Given the description of an element on the screen output the (x, y) to click on. 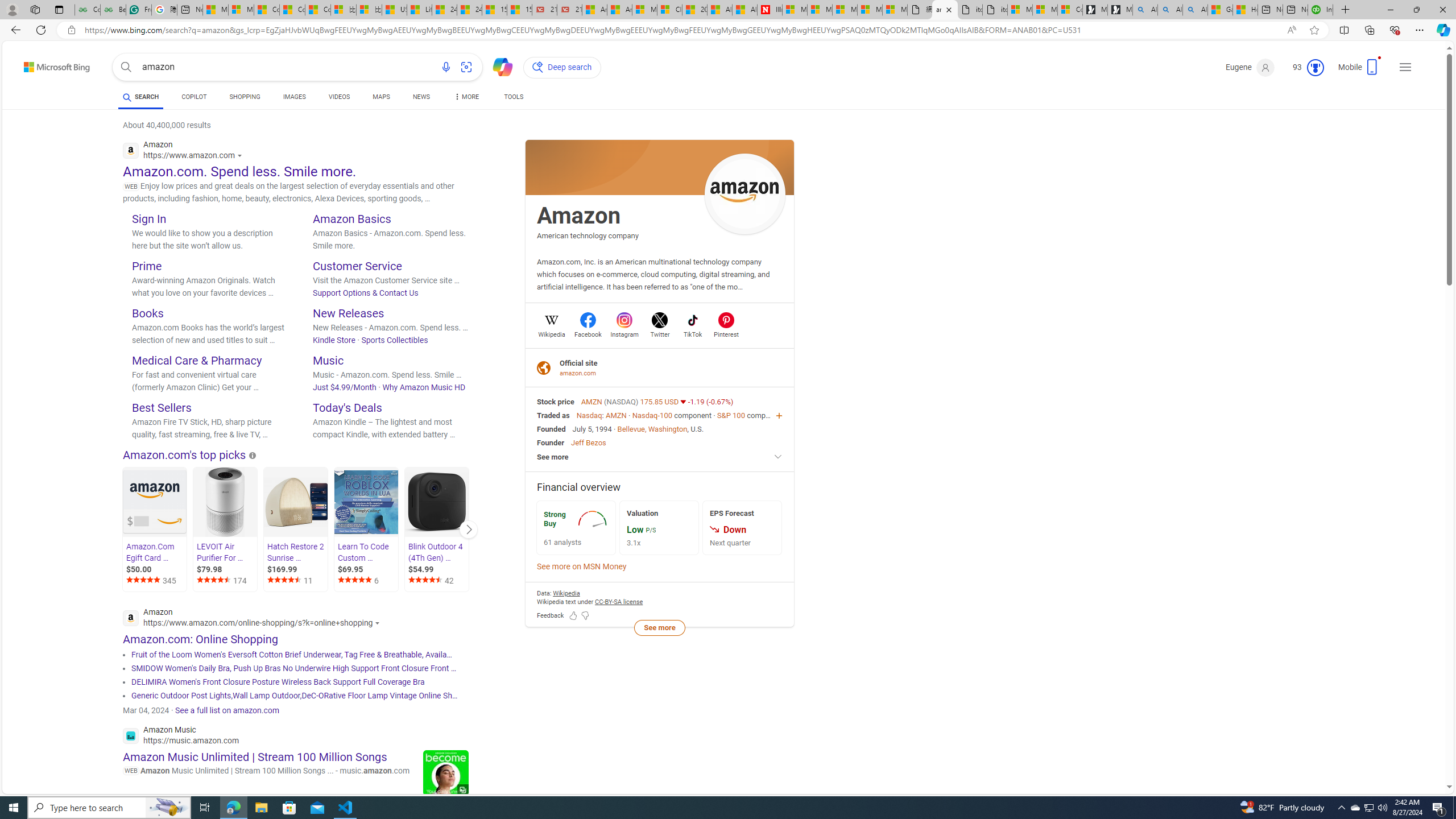
Amazon.com's top picks (184, 454)
SHOPPING (244, 96)
Amazon.Com Egift Card (Instant Email Or Text Delivery) (154, 502)
How to Use a TV as a Computer Monitor (1244, 9)
Music (328, 359)
6 (367, 580)
174 (226, 580)
Data attribution Wikipedia (566, 593)
Sports Collectibles (394, 339)
Facebook (587, 333)
